Given the description of an element on the screen output the (x, y) to click on. 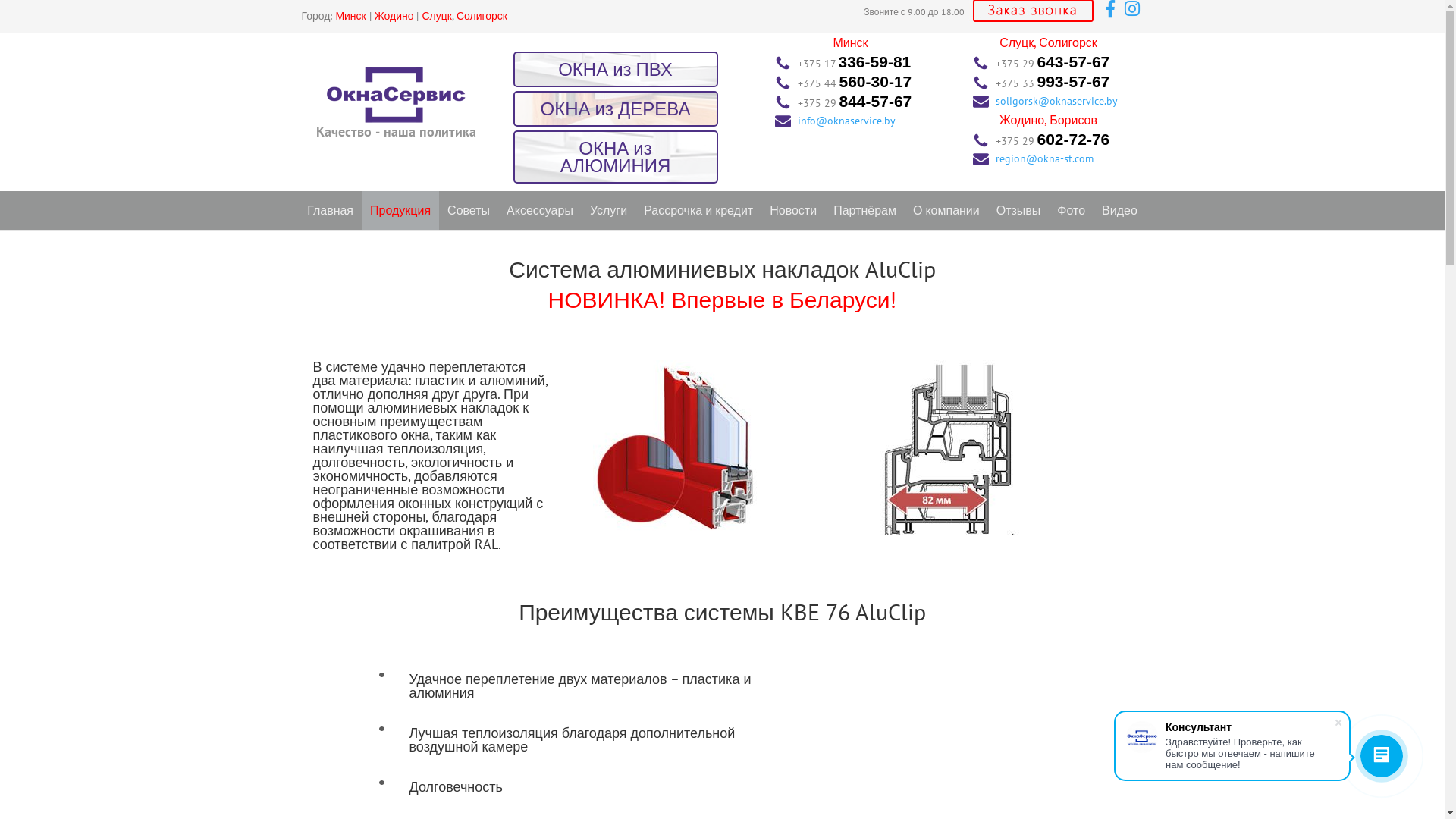
soligorsk@oknaservice.by Element type: text (1055, 100)
region@okna-st.com Element type: text (1043, 158)
info@oknaservice.by Element type: text (846, 120)
